Given the description of an element on the screen output the (x, y) to click on. 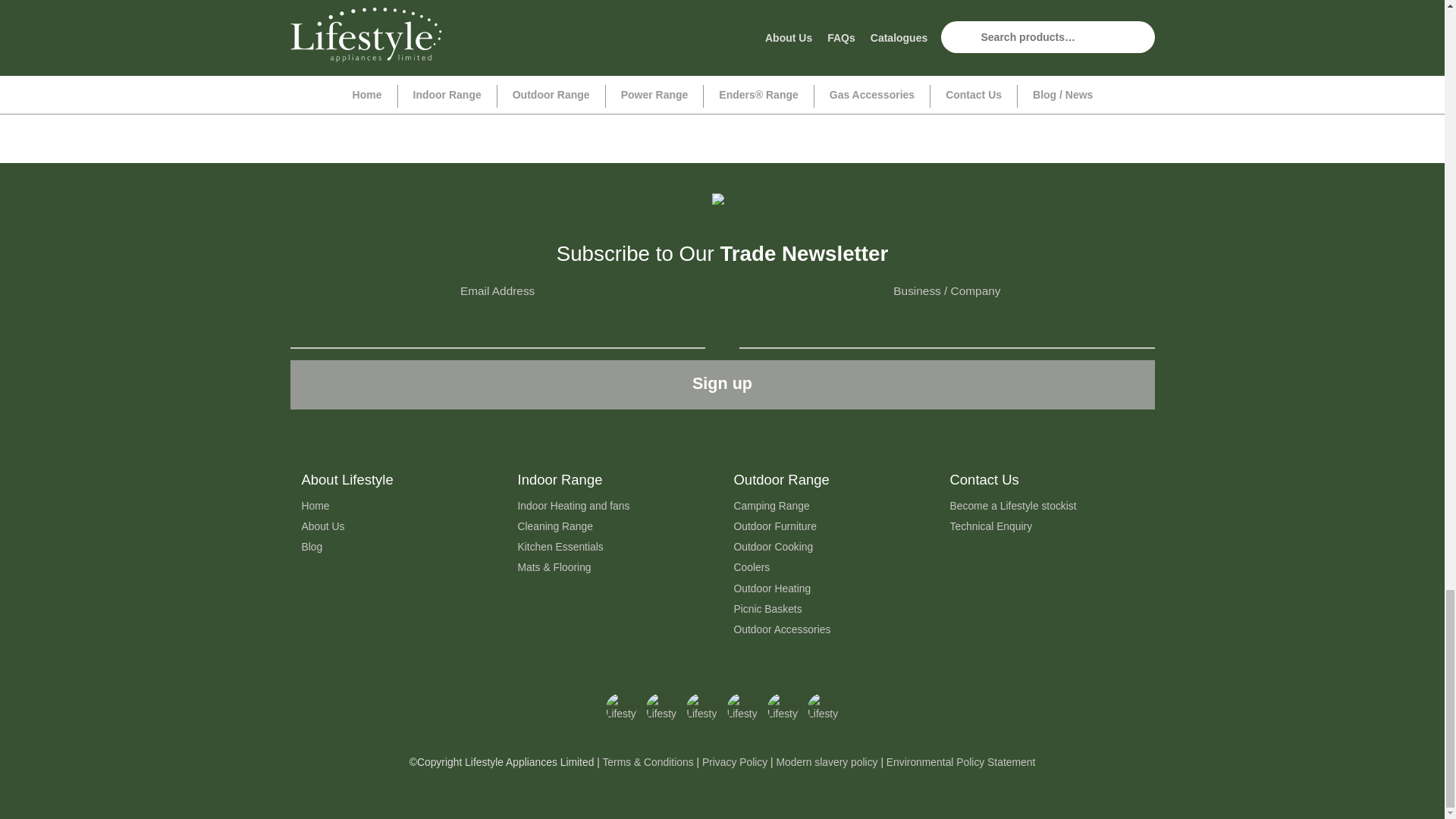
Lifestyle Appliances Ltd on Instagram (701, 708)
Sign up (721, 384)
Lifestyle Appliances leave us a review on Google (823, 708)
Lifestyle Appliances Ltd on Twitter (661, 708)
Lifestyle Appliances Ltd on YouTube (742, 708)
Lifestyle Appliances on LinkedIn (782, 708)
Lifestyle Appliances Ltd on Facebook (621, 708)
